Given the description of an element on the screen output the (x, y) to click on. 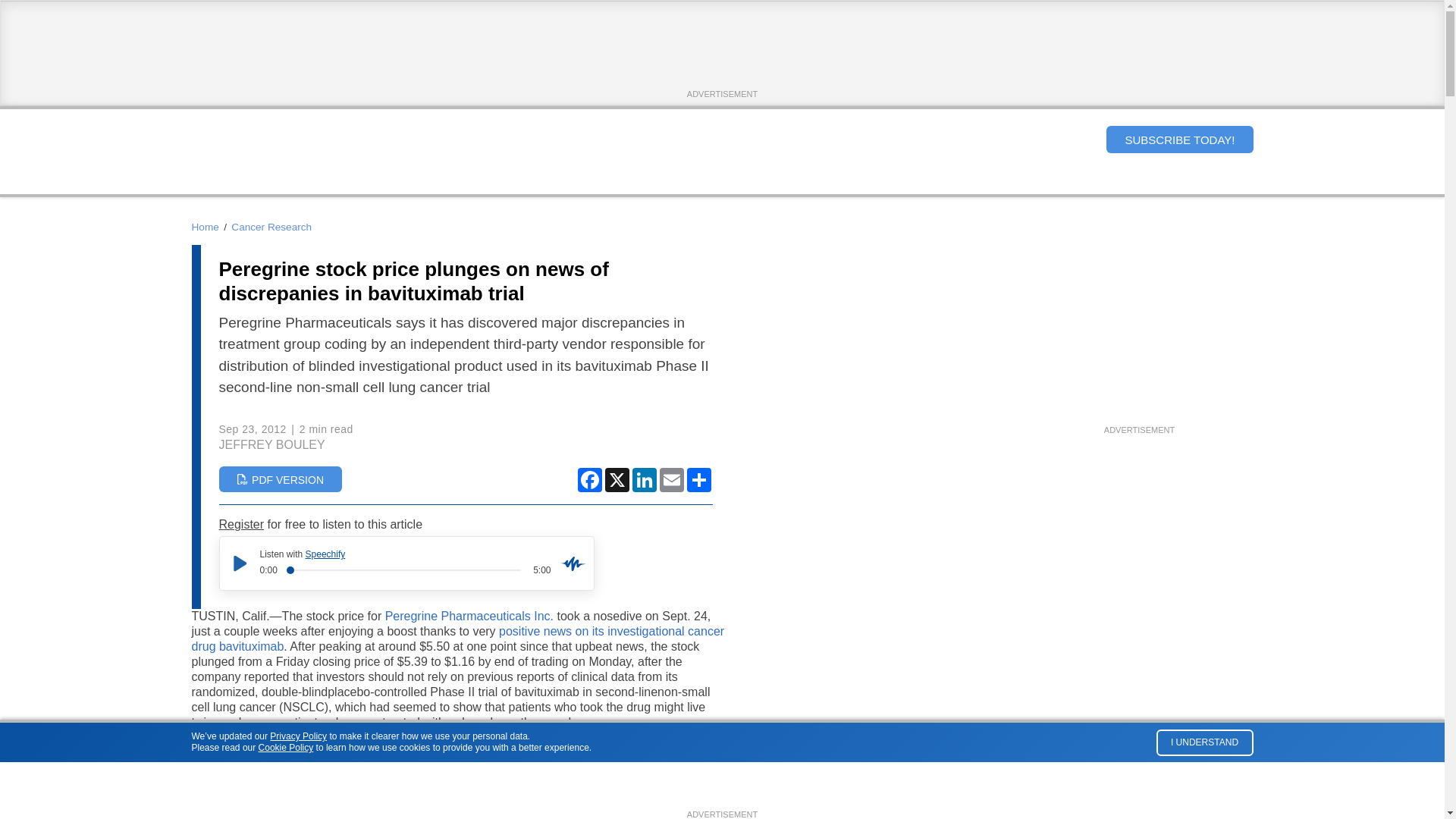
3rd party ad content (1138, 328)
Search (1081, 139)
SUBSCRIBE TODAY! (1179, 139)
DISEASE FOCUS (665, 179)
3rd party ad content (721, 52)
